Given the description of an element on the screen output the (x, y) to click on. 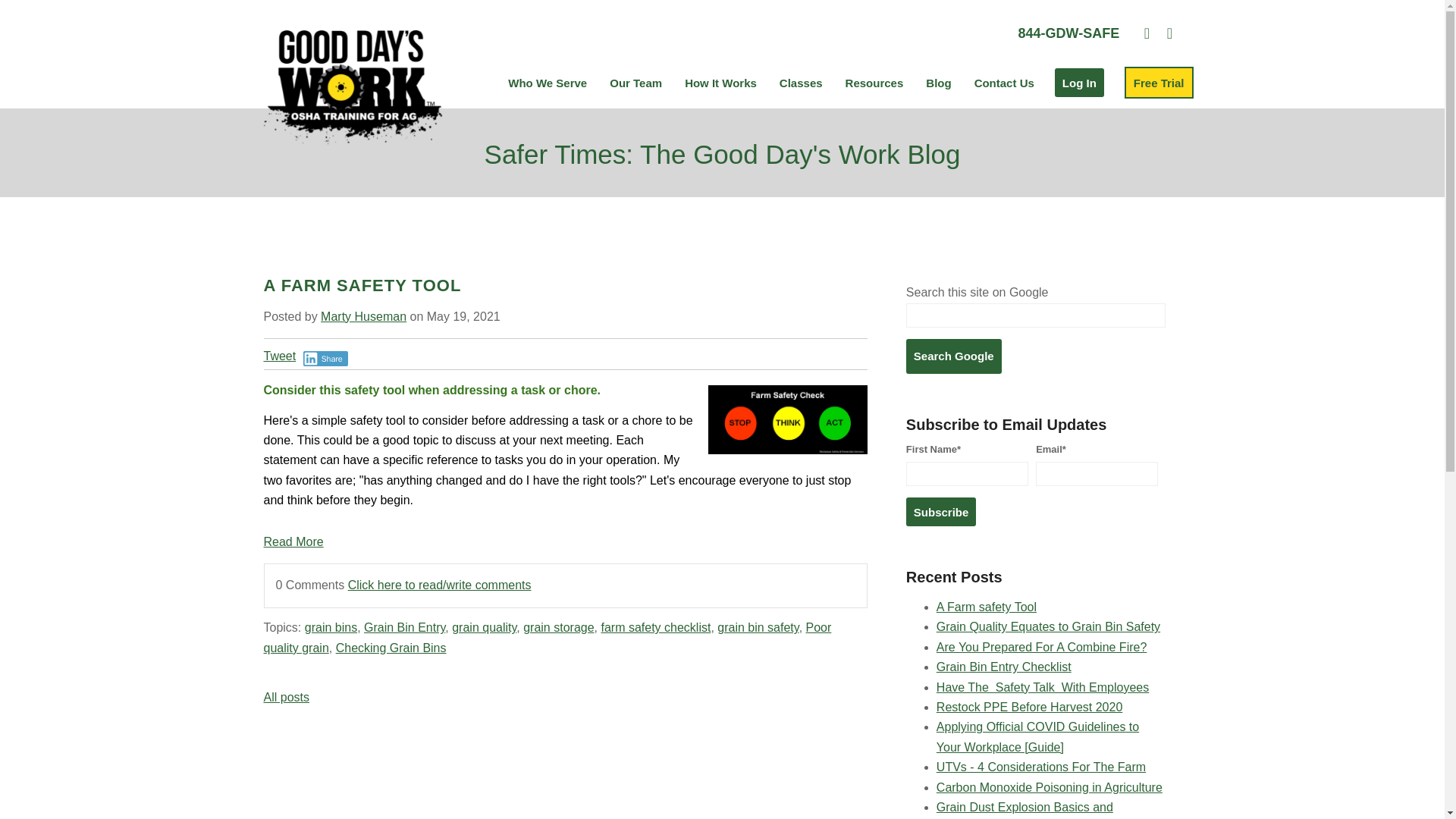
Who We Serve (547, 53)
Checking Grain Bins (391, 647)
farm safety checklist (654, 626)
Poor quality grain (547, 636)
Grain Quality Equates to Grain Bin Safety (1048, 626)
Share (324, 358)
grain bins (330, 626)
Are You Prepared For A Combine Fire? (1041, 646)
A Farm safety Tool (986, 606)
All posts (285, 697)
Read More (293, 541)
A FARM SAFETY TOOL (362, 285)
Facebook (1169, 33)
Twitter (1146, 33)
844-GDW-SAFE (1068, 32)
